Given the description of an element on the screen output the (x, y) to click on. 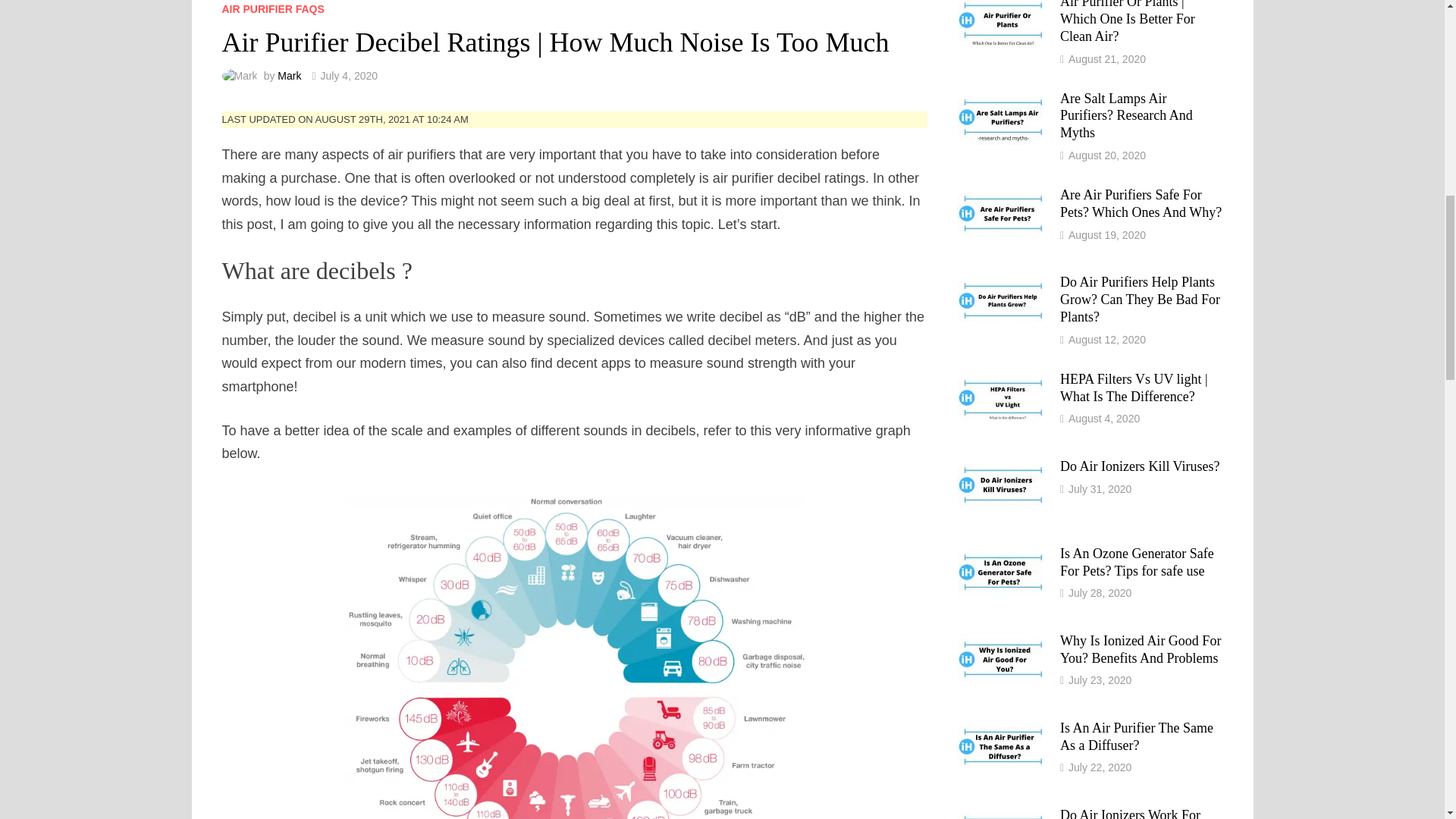
Is An Ozone Generator Safe For Pets? Tips for safe use (1003, 554)
Do Air Ionizers Kill Viruses? (1003, 467)
Are Air Purifiers Safe For Pets? Which Ones And Why? (1003, 196)
Why Is Ionized Air Good For You? Benefits And Problems (1003, 642)
July 4, 2020 (349, 75)
Is An Air Purifier The Same As a Diffuser? (1003, 729)
Mark (289, 75)
AIR PURIFIER FAQS (272, 9)
Do Air Ionizers Work For Allergies? How effective are they? (1003, 814)
Are Salt Lamps Air Purifiers? Research And Myths (1003, 99)
